Given the description of an element on the screen output the (x, y) to click on. 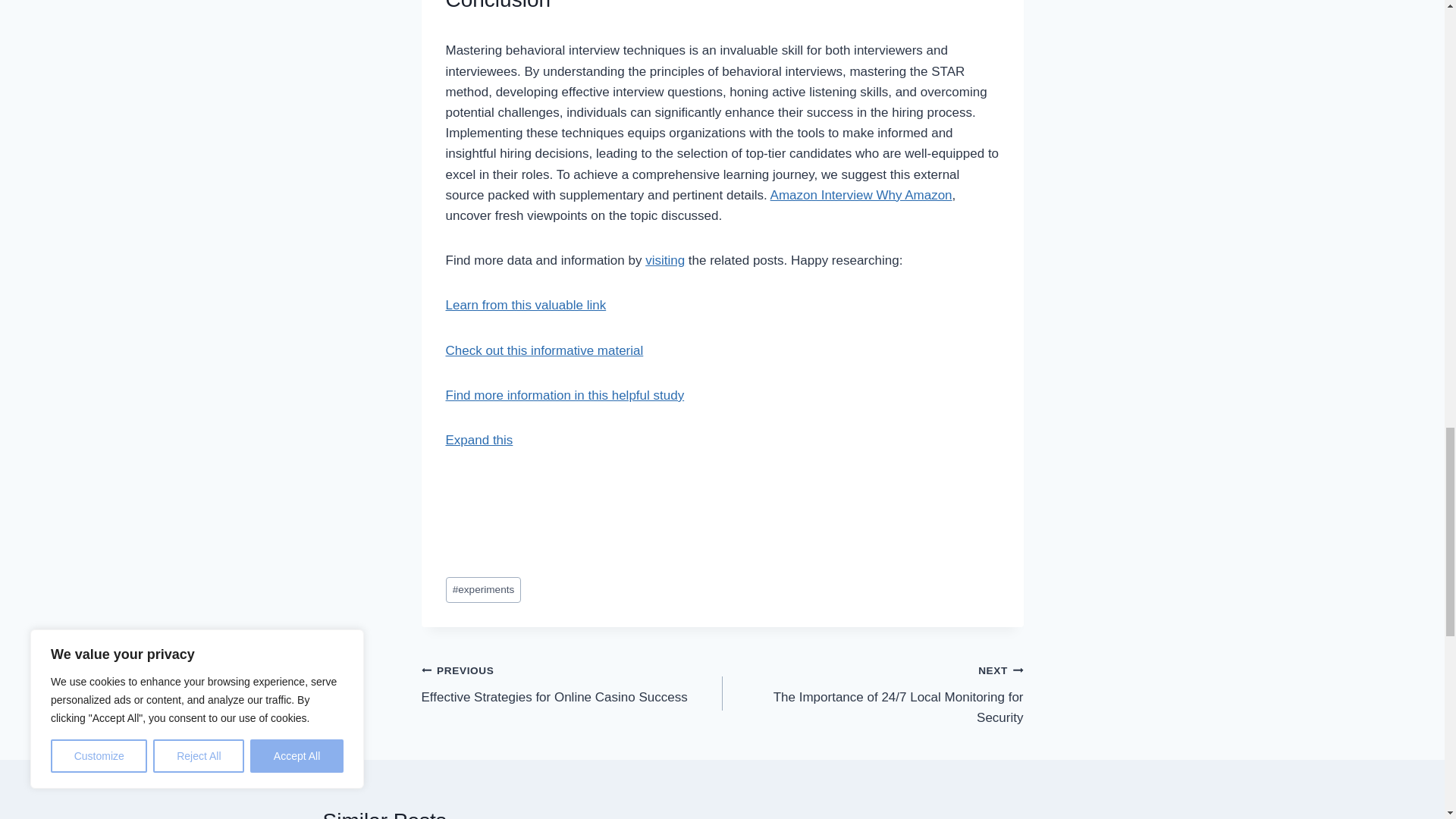
Expand this (479, 440)
Amazon Interview Why Amazon (861, 195)
experiments (483, 590)
Find more information in this helpful study (572, 683)
Learn from this valuable link (564, 395)
visiting (526, 305)
Check out this informative material (664, 260)
